Given the description of an element on the screen output the (x, y) to click on. 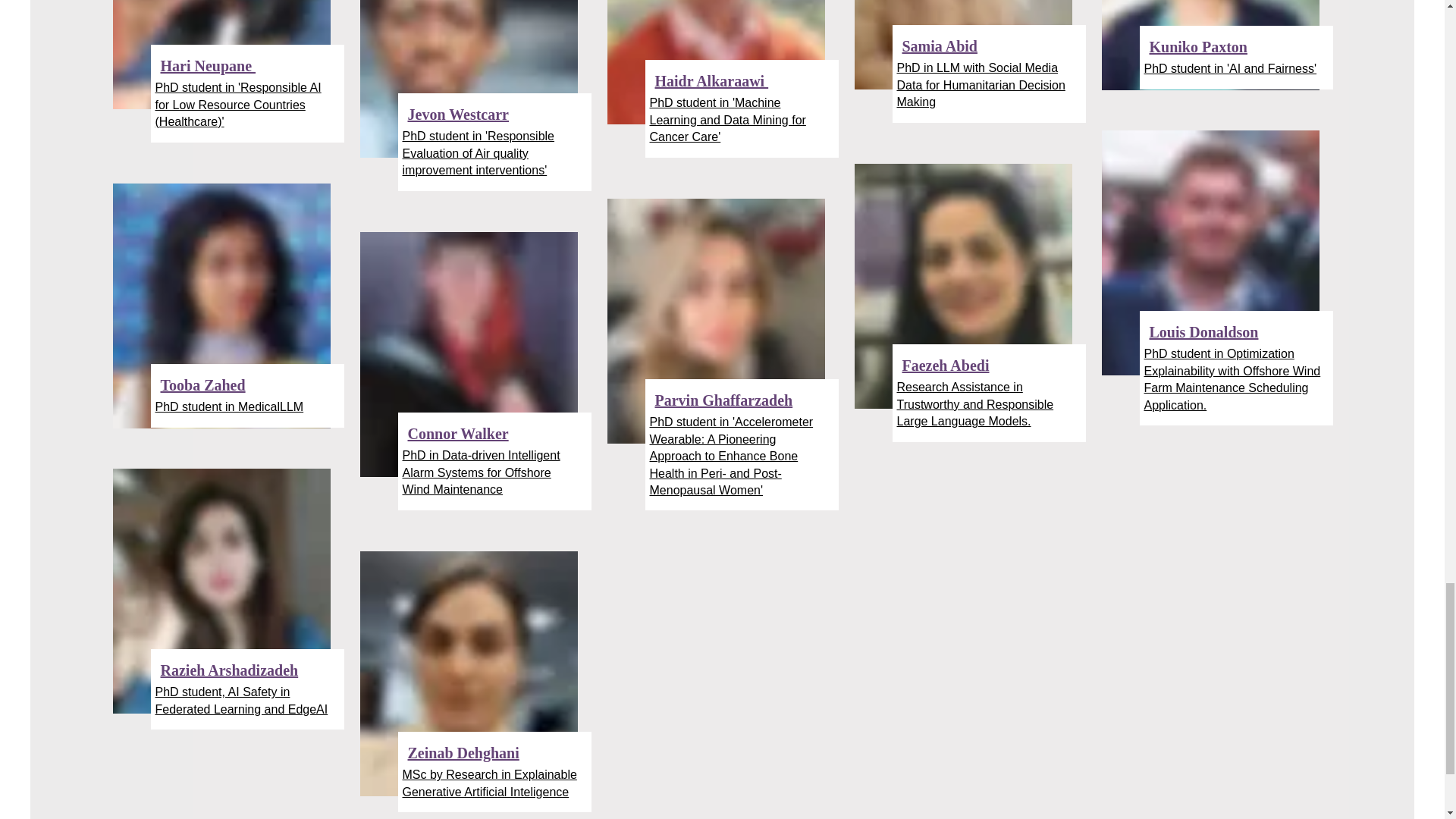
Hari Neupane  (208, 65)
Samia Abid (939, 45)
Machine Learning and Data Mining for Cancer Care' (727, 119)
Haidr Alkaraawi  (711, 80)
PhD student in ' (691, 102)
Jevon Westcarr (458, 114)
